Given the description of an element on the screen output the (x, y) to click on. 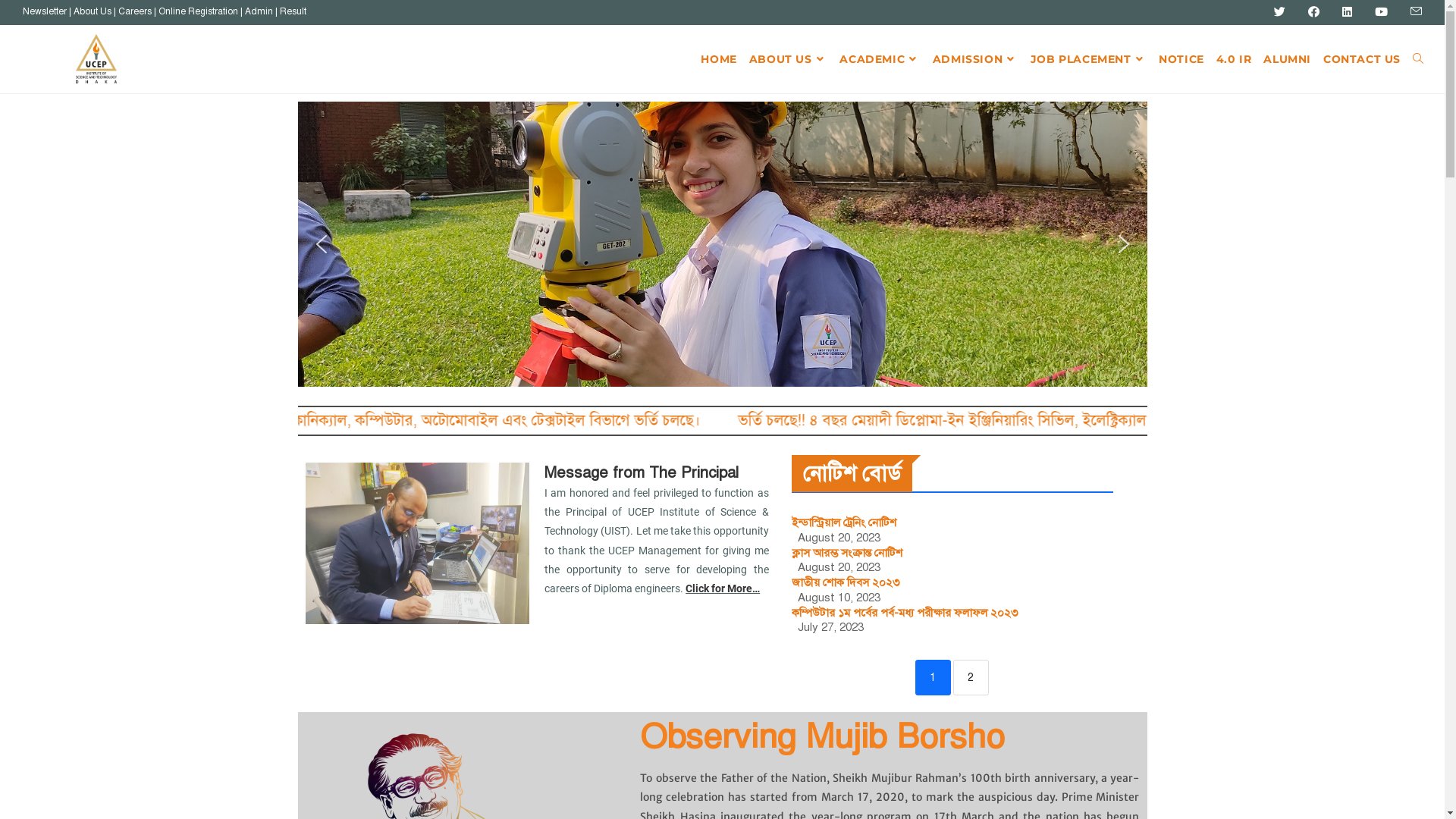
ACADEMIC Element type: text (879, 58)
ABOUT US Element type: text (788, 58)
ADMISSION Element type: text (975, 58)
4.0 IR Element type: text (1234, 58)
JOB PLACEMENT Element type: text (1088, 58)
ALUMNI Element type: text (1287, 58)
August 20, 2023 Element type: text (838, 537)
HOME Element type: text (718, 58)
NOTICE Element type: text (1181, 58)
CONTACT US Element type: text (1361, 58)
August 10, 2023 Element type: text (838, 597)
2 Element type: text (970, 677)
August 20, 2023 Element type: text (838, 567)
July 27, 2023 Element type: text (830, 627)
